Given the description of an element on the screen output the (x, y) to click on. 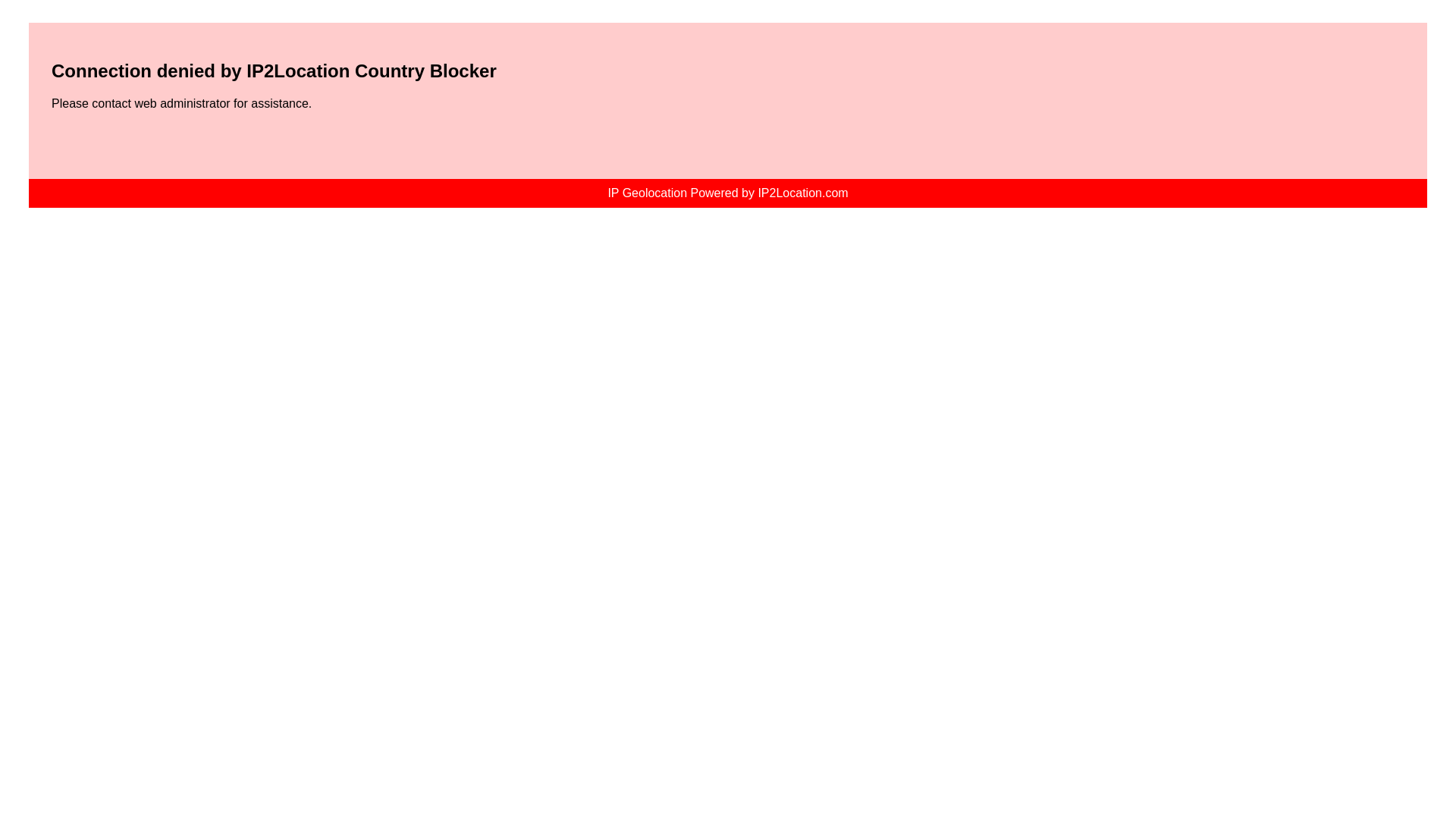
IP Geolocation Powered by IP2Location.com Element type: text (727, 192)
